Given the description of an element on the screen output the (x, y) to click on. 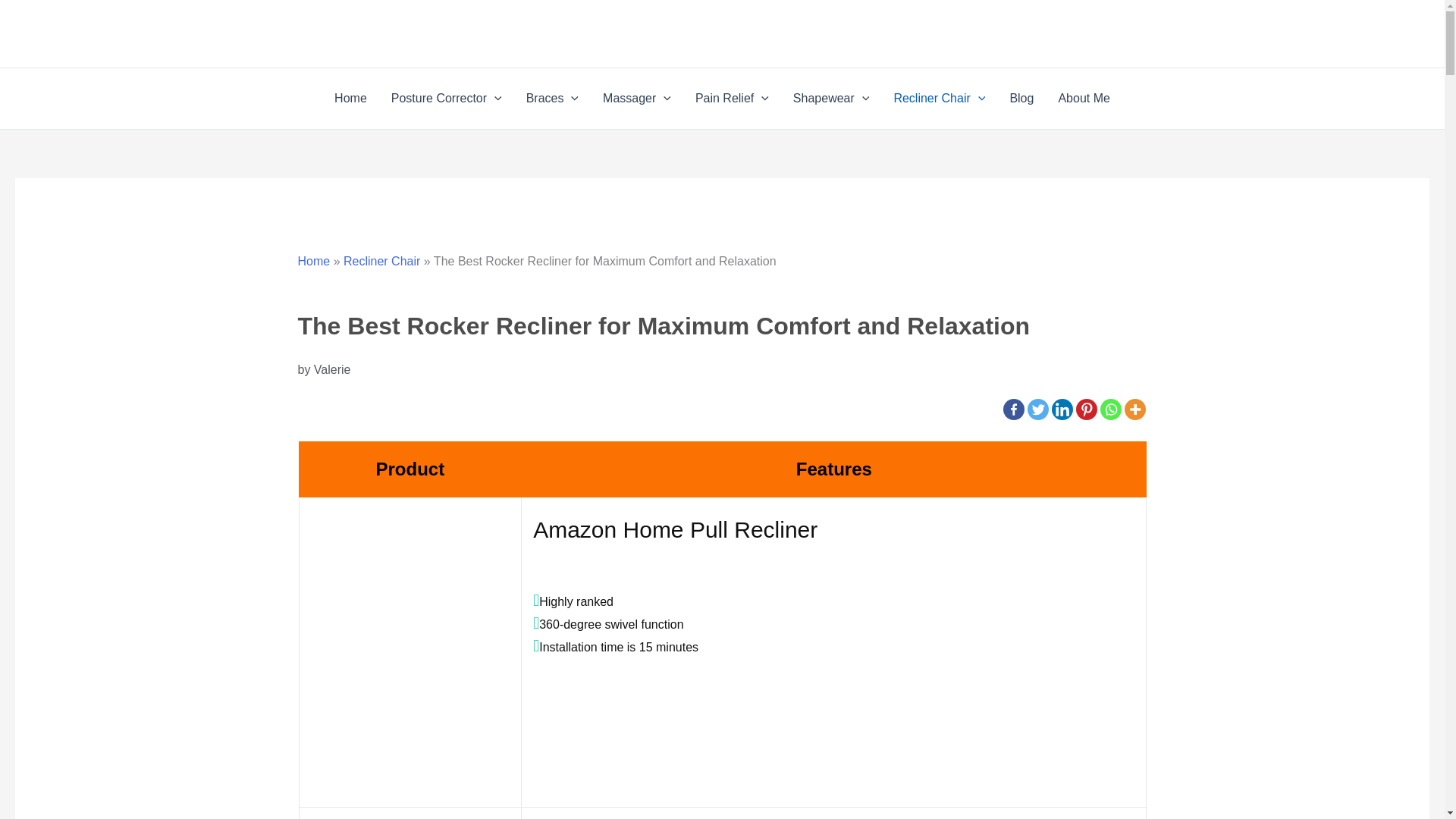
Posture Corrector (445, 97)
Whatsapp (1110, 409)
Braces (552, 97)
Massager (636, 97)
Pinterest (1085, 409)
Twitter (1037, 409)
Facebook (1013, 409)
Linkedin (1061, 409)
More (1134, 409)
Home (349, 97)
